Given the description of an element on the screen output the (x, y) to click on. 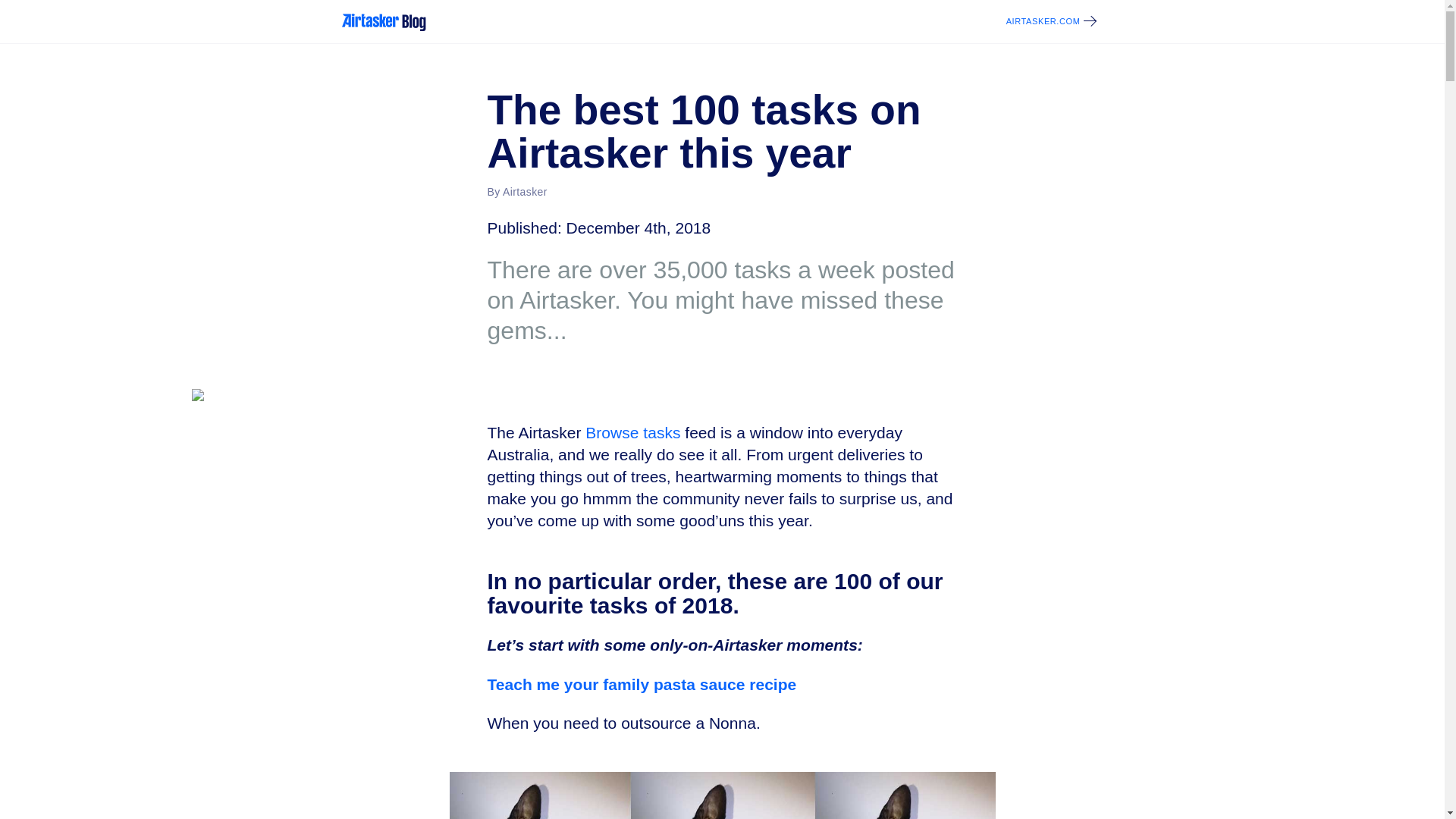
Teach me your family pasta sauce recipe (641, 683)
Browse tasks (632, 432)
AIRTASKER.COM (1047, 21)
